Given the description of an element on the screen output the (x, y) to click on. 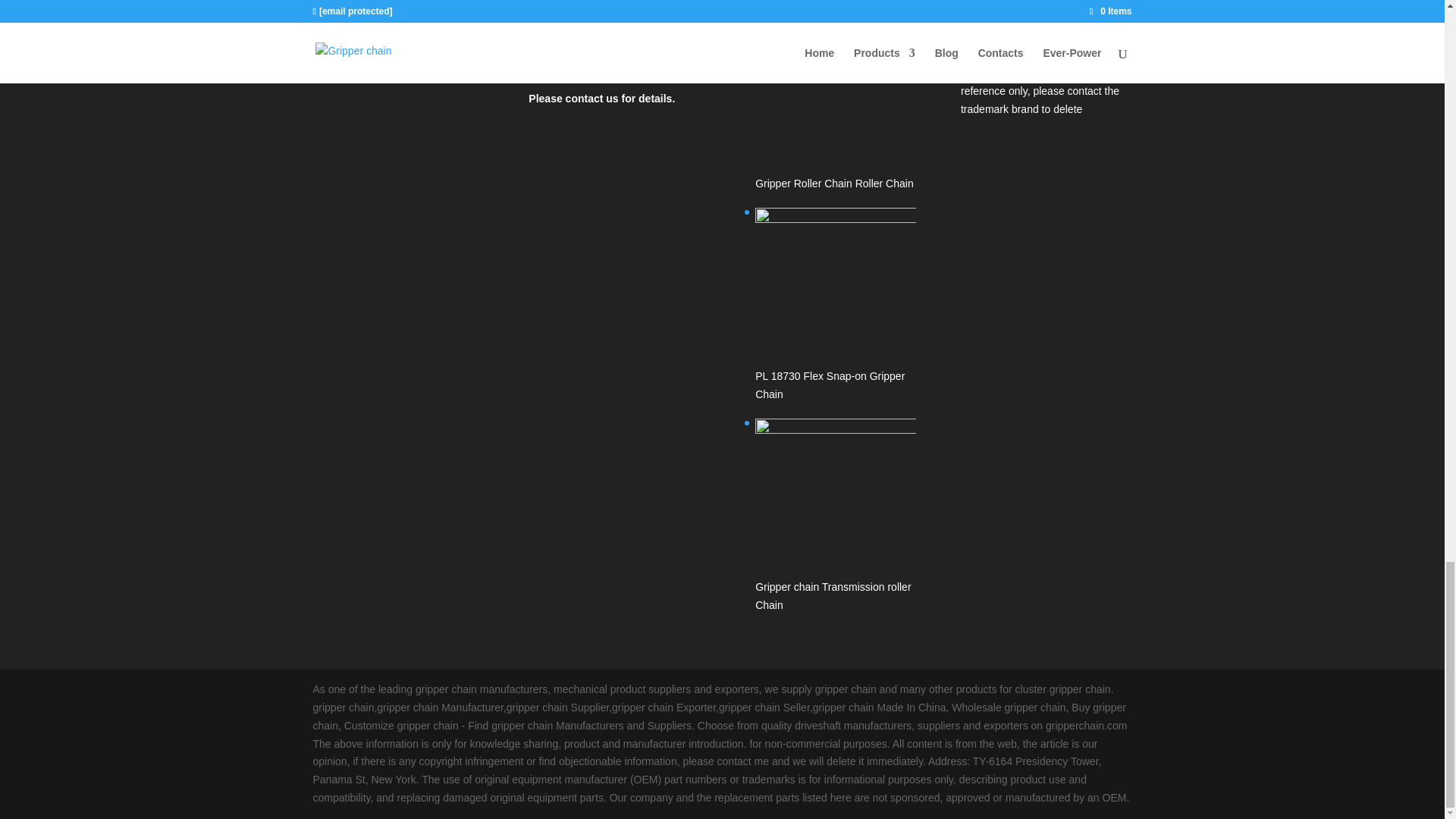
Search (1084, 9)
Gripper Roller Chain Roller Chain (835, 104)
Search (1084, 9)
About Us (334, 2)
